Given the description of an element on the screen output the (x, y) to click on. 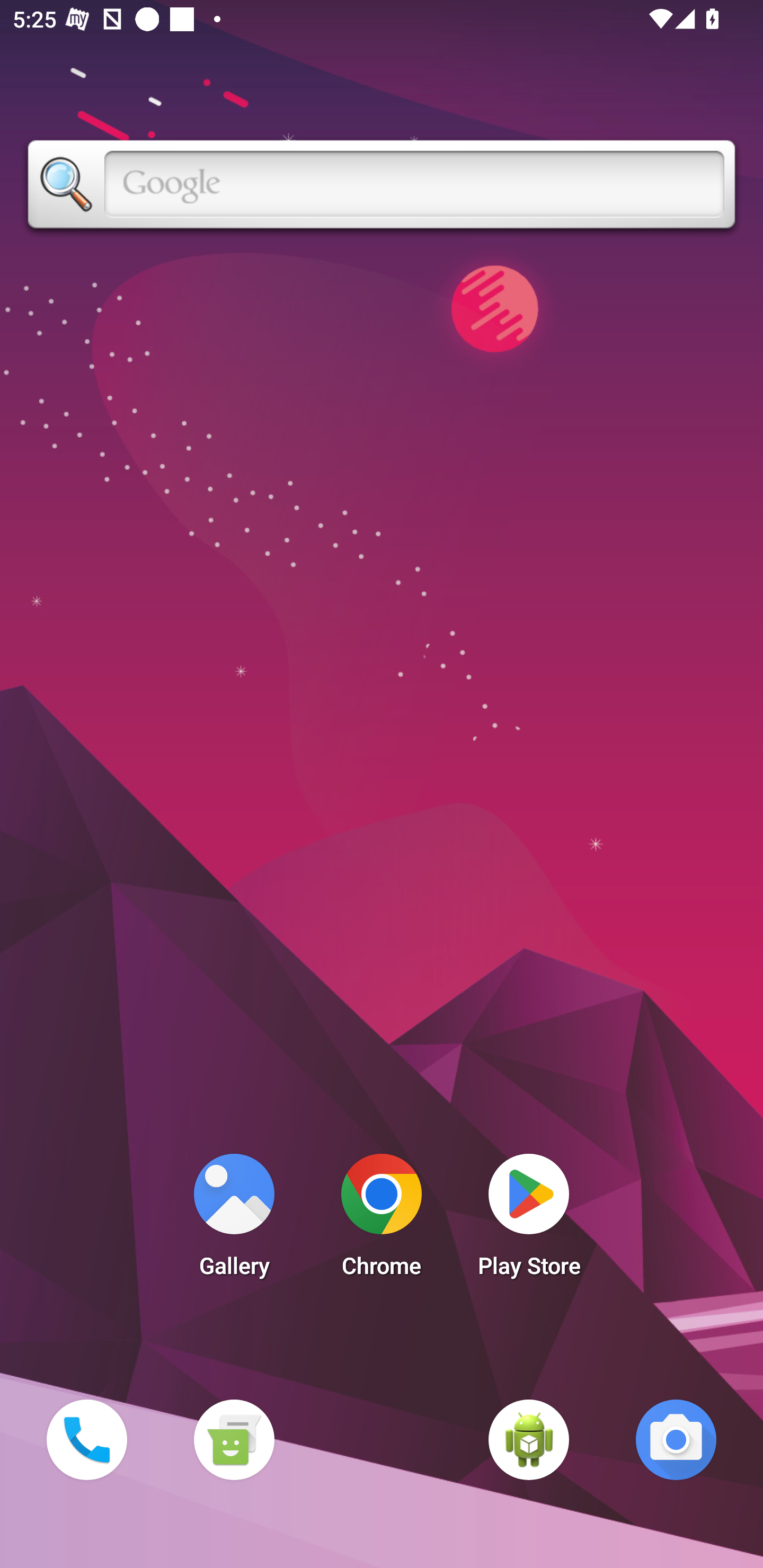
Gallery (233, 1220)
Chrome (381, 1220)
Play Store (528, 1220)
Phone (86, 1439)
Messaging (233, 1439)
WebView Browser Tester (528, 1439)
Camera (676, 1439)
